Given the description of an element on the screen output the (x, y) to click on. 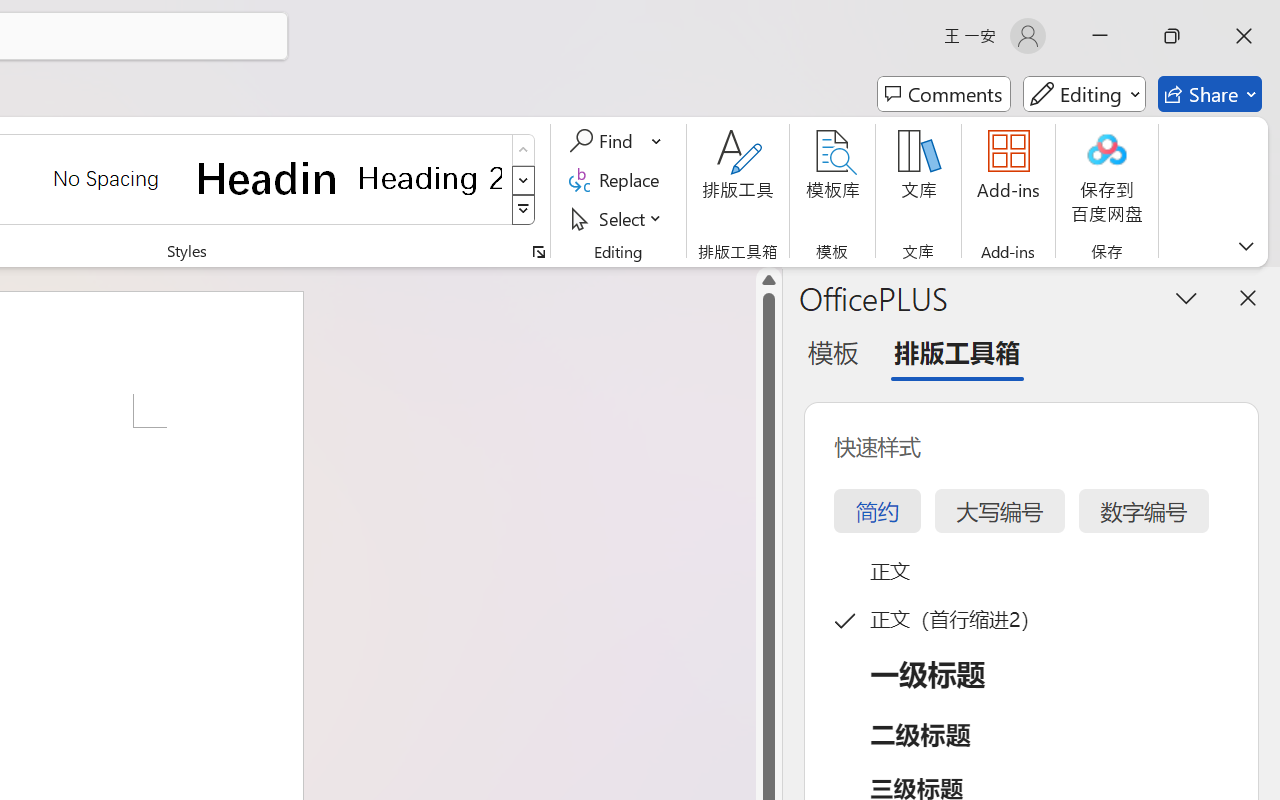
Line up (769, 279)
